Given the description of an element on the screen output the (x, y) to click on. 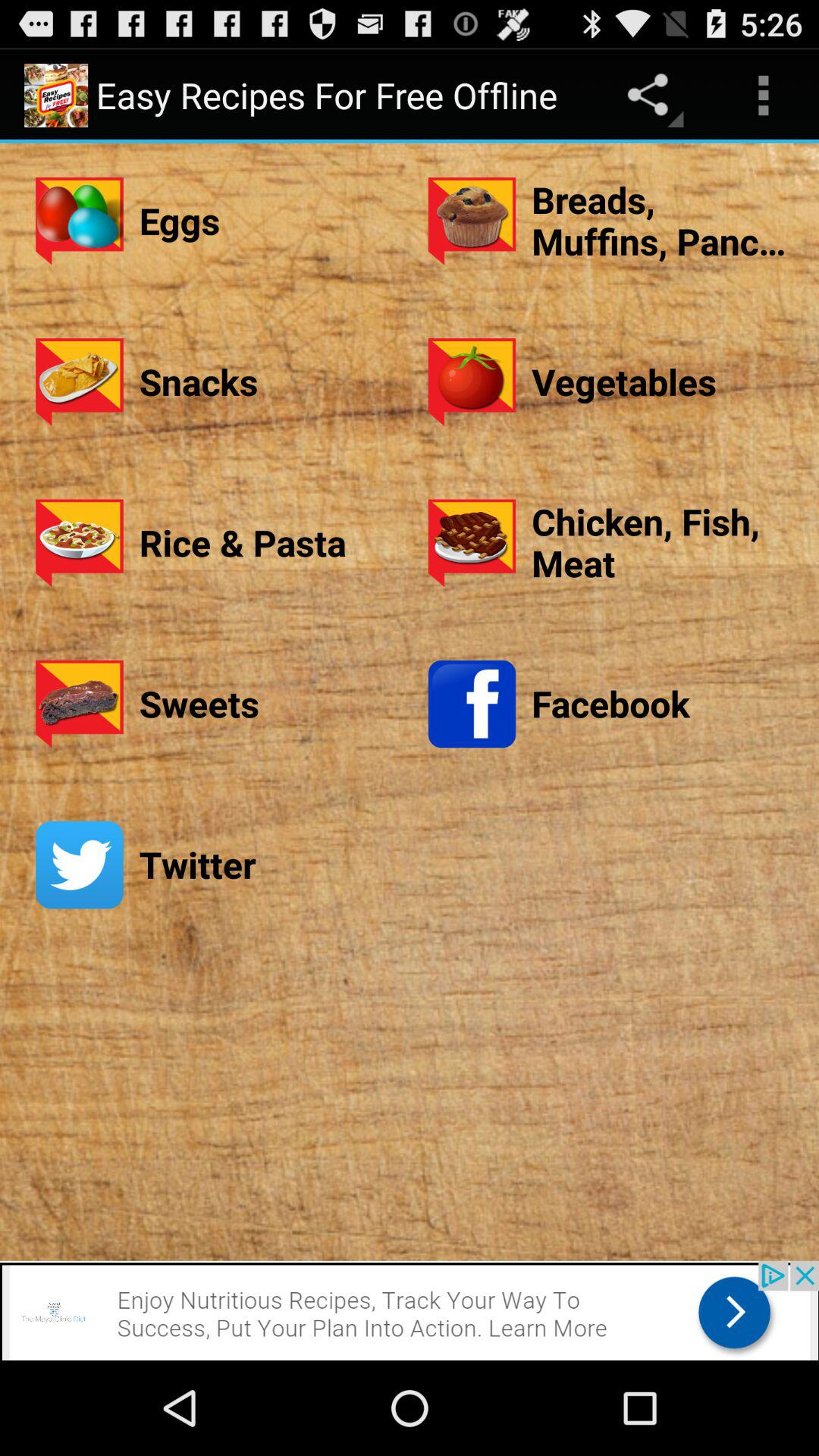
open advertising (409, 1310)
